Given the description of an element on the screen output the (x, y) to click on. 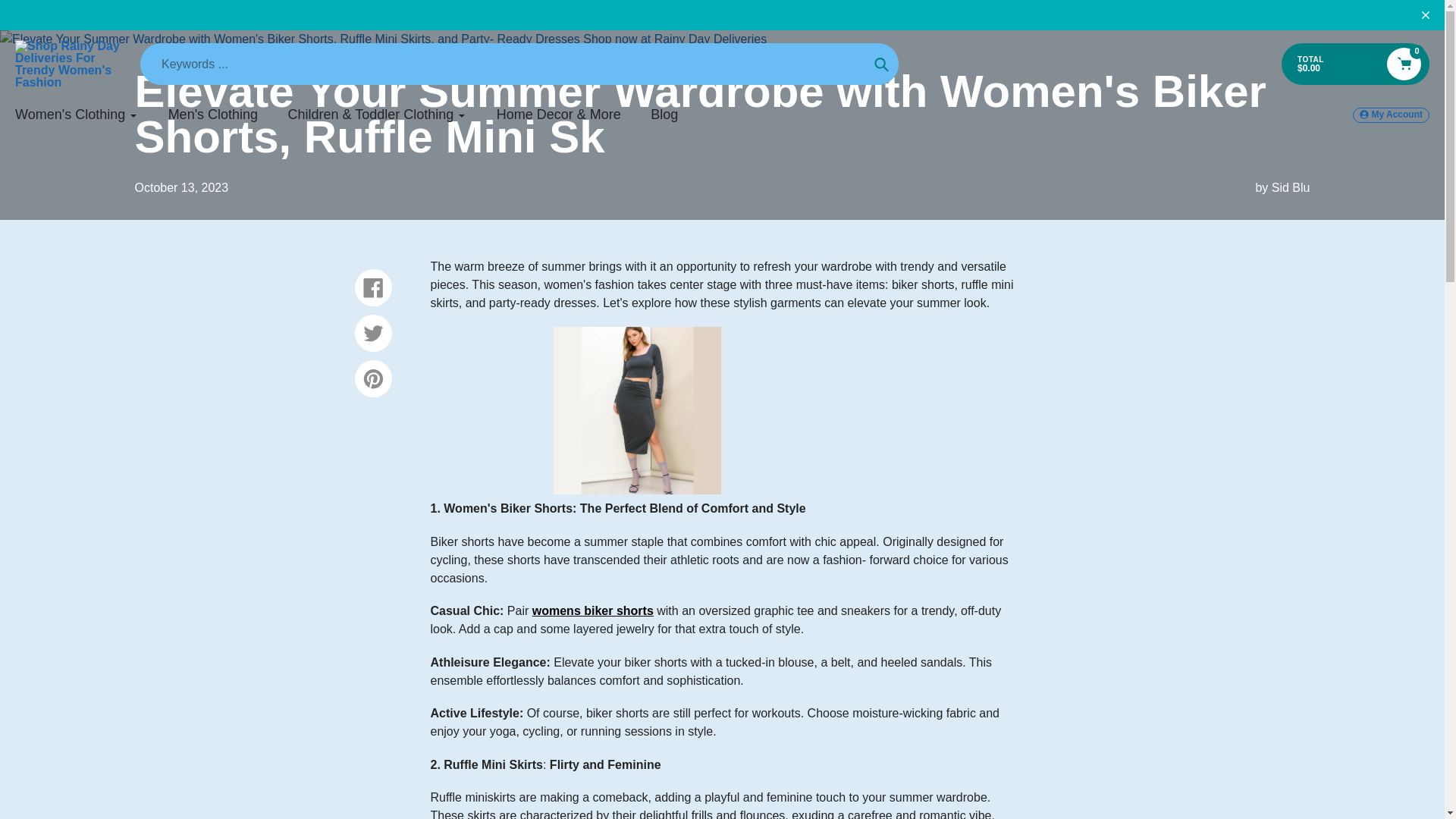
My Account (1390, 114)
Blog (664, 114)
Women's Clothing (76, 114)
0 (1404, 63)
Men's Clothing (213, 114)
